Given the description of an element on the screen output the (x, y) to click on. 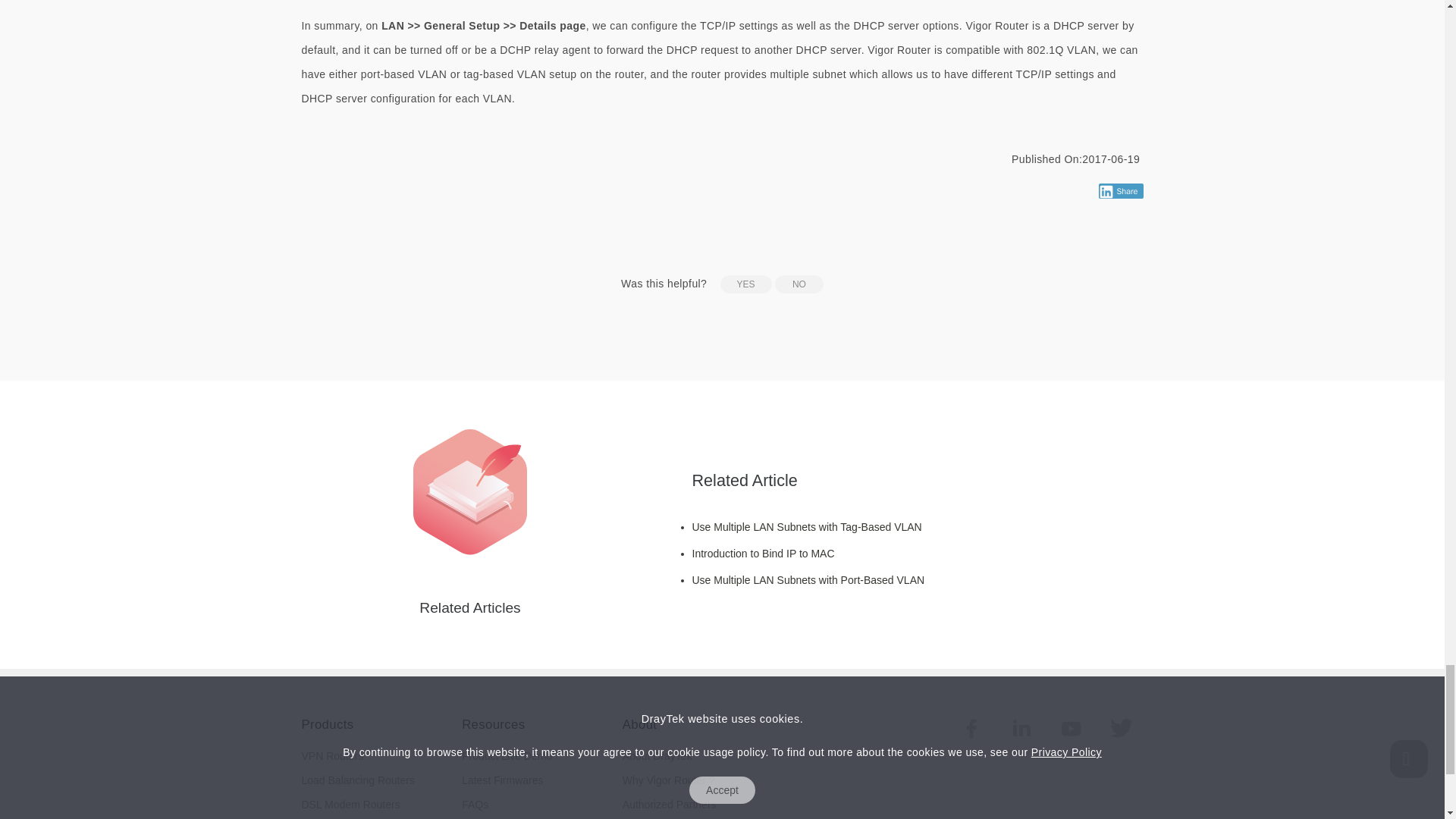
Twitter Tweet Button (1073, 191)
